Given the description of an element on the screen output the (x, y) to click on. 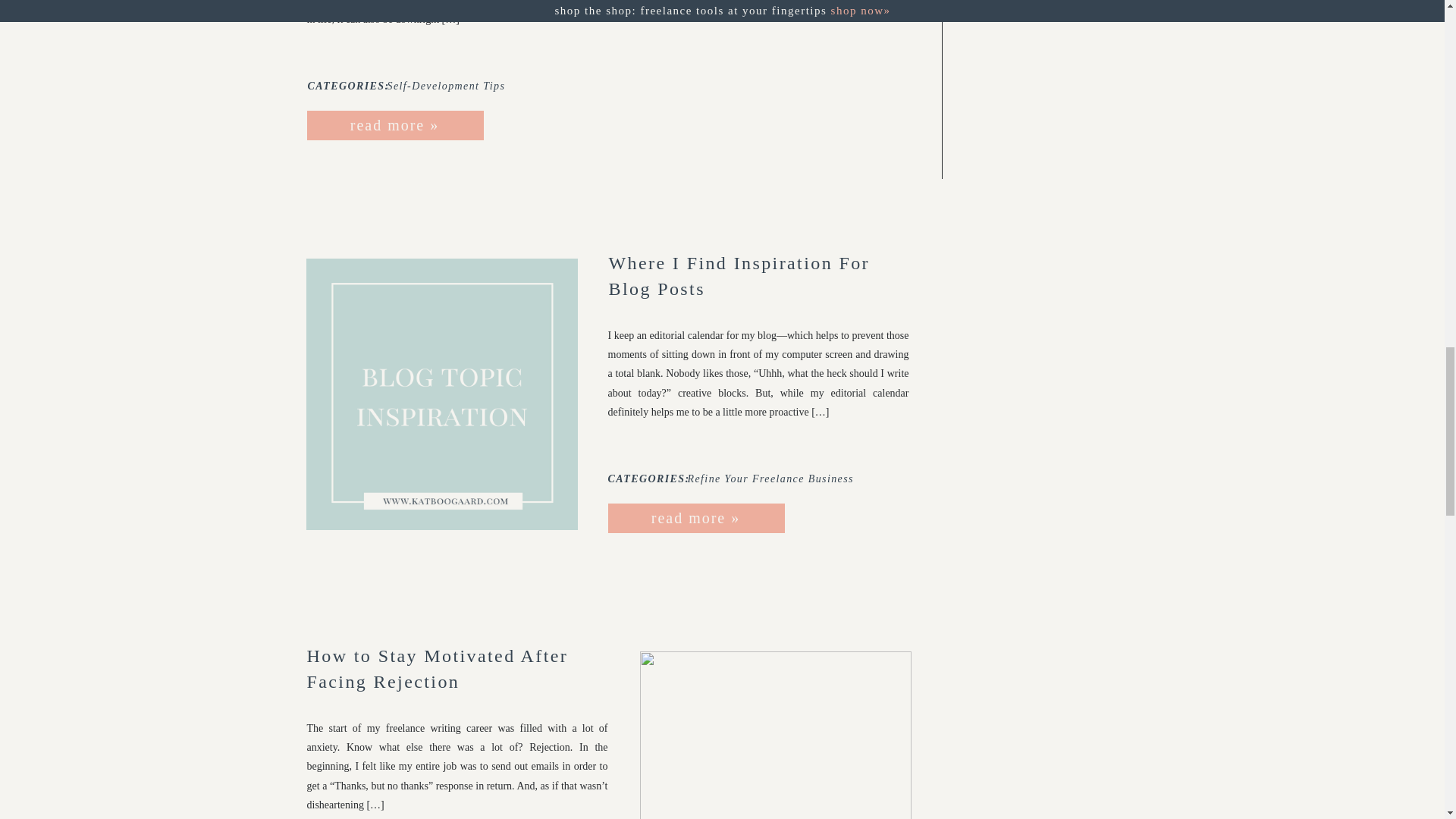
How to Stay Motivated After Facing Rejection (775, 735)
Defining Your Own Version of Success (394, 125)
Defining Your Own Version of Success (775, 68)
Where I Find Inspiration For Blog Posts (441, 393)
Where I Find Inspiration For Blog Posts (695, 517)
